Given the description of an element on the screen output the (x, y) to click on. 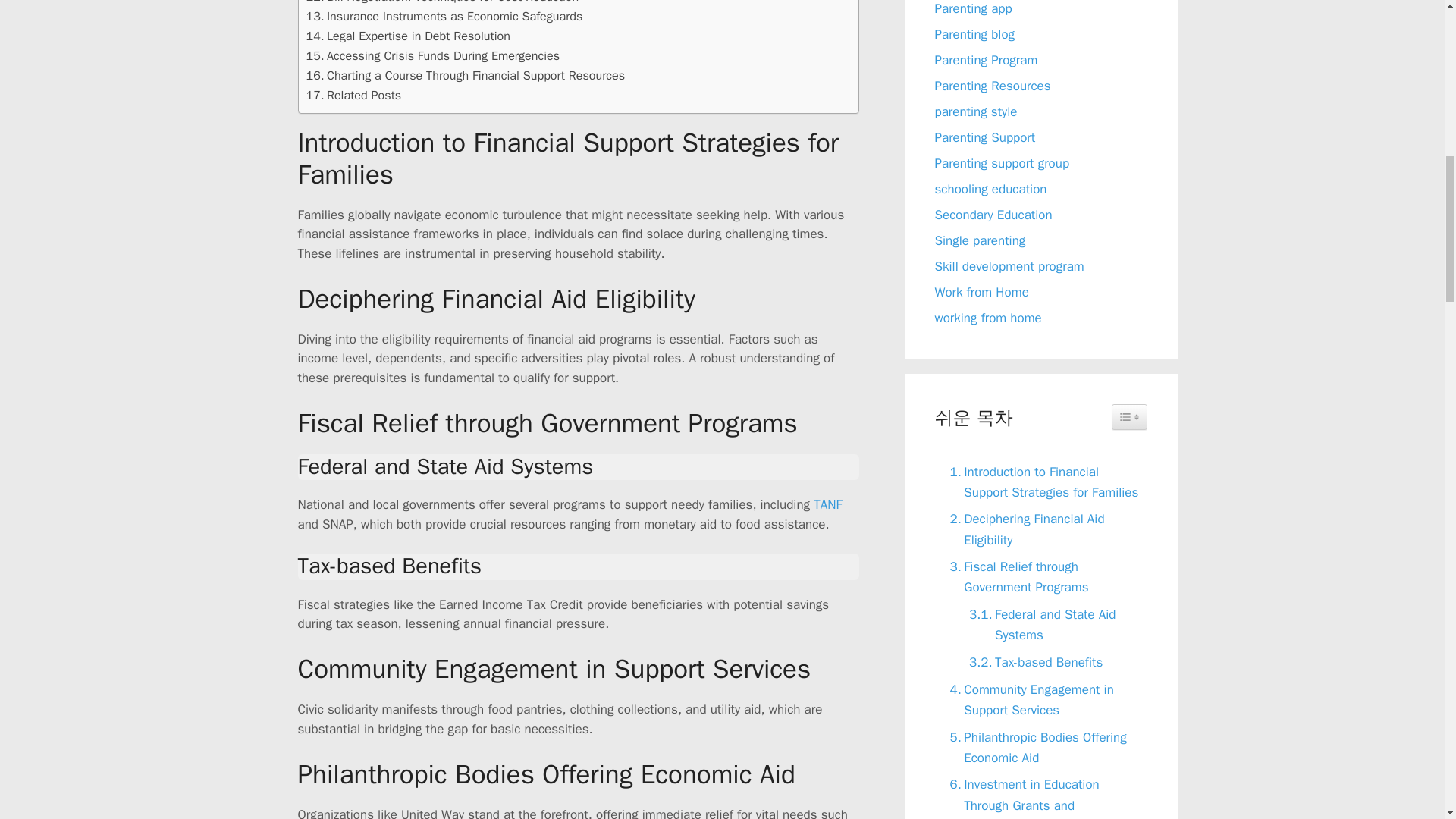
Accessing Crisis Funds During Emergencies (432, 55)
TANF (827, 504)
Charting a Course Through Financial Support Resources (465, 75)
Bill Negotiation: Techniques for Cost Reduction (442, 3)
Related Posts (353, 95)
Bill Negotiation: Techniques for Cost Reduction (442, 3)
Insurance Instruments as Economic Safeguards (444, 16)
Insurance Instruments as Economic Safeguards (444, 16)
Legal Expertise in Debt Resolution (408, 35)
